Given the description of an element on the screen output the (x, y) to click on. 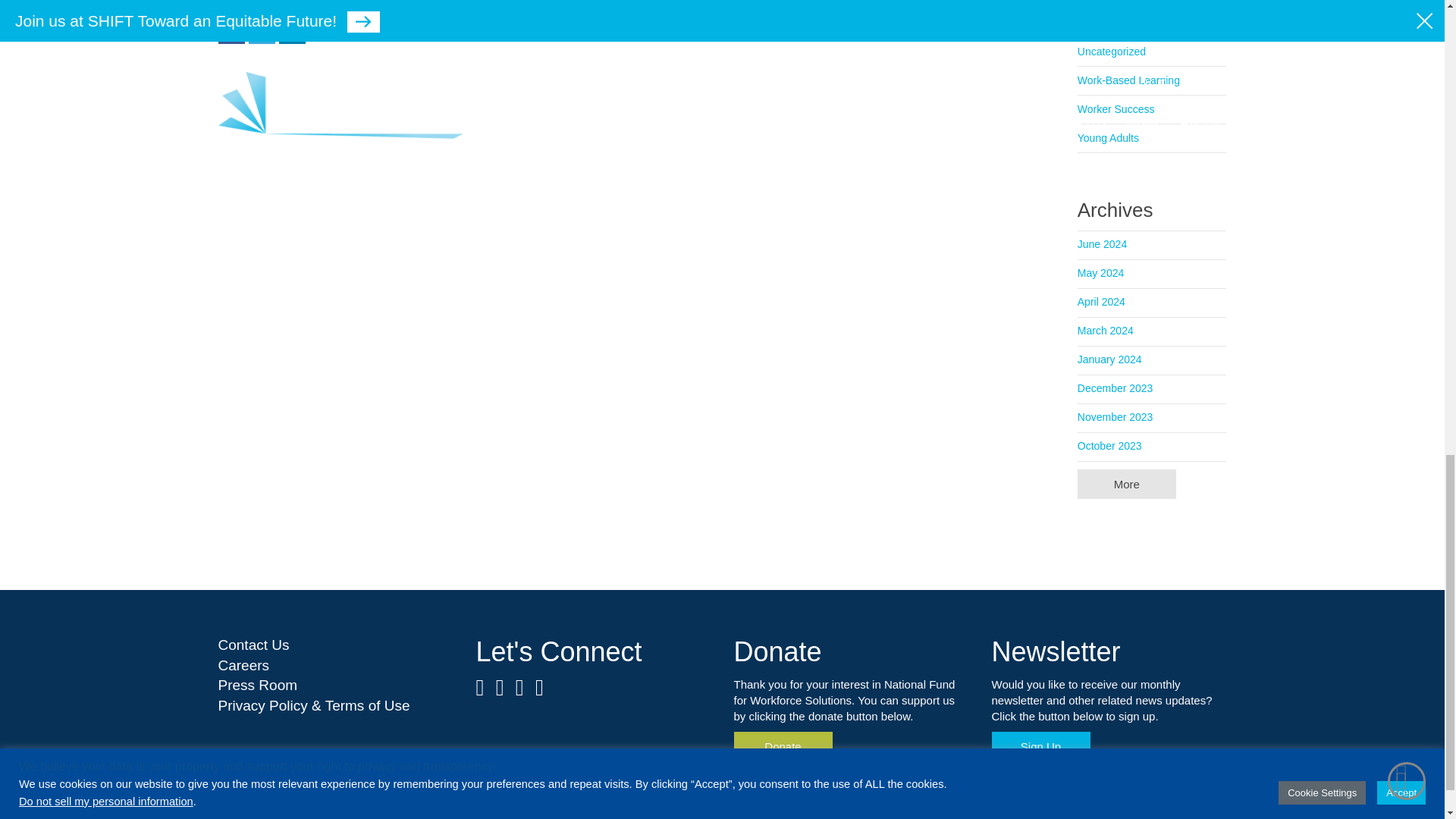
facebook (231, 30)
twitter (261, 30)
linkedin (292, 30)
